Given the description of an element on the screen output the (x, y) to click on. 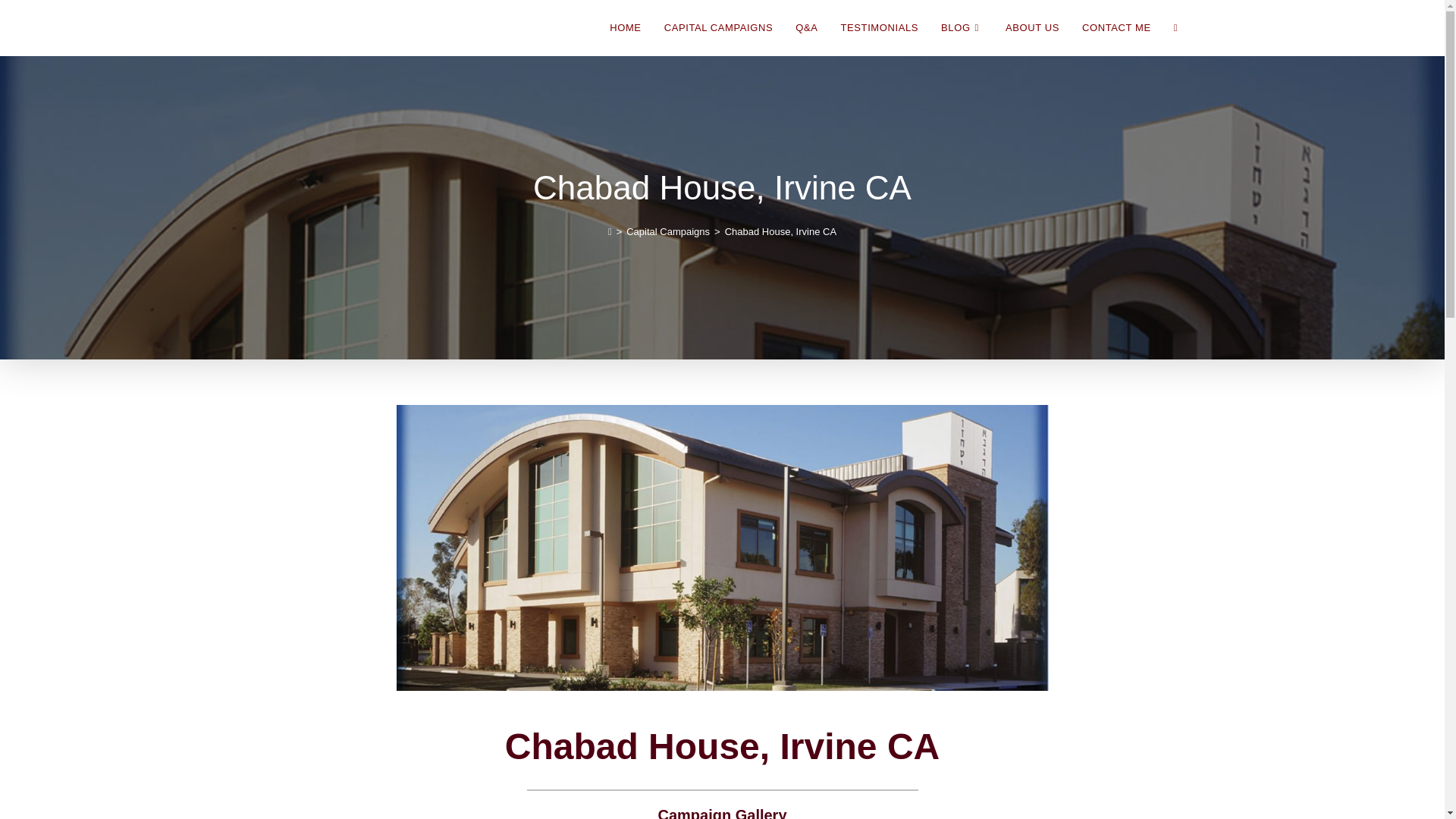
Capital Campaigns (668, 231)
HOME (625, 28)
BLOG (962, 28)
TESTIMONIALS (879, 28)
CAPITAL CAMPAIGNS (718, 28)
ABOUT US (1032, 28)
Chabad House, Irvine CA (780, 231)
CONTACT ME (1115, 28)
